Given the description of an element on the screen output the (x, y) to click on. 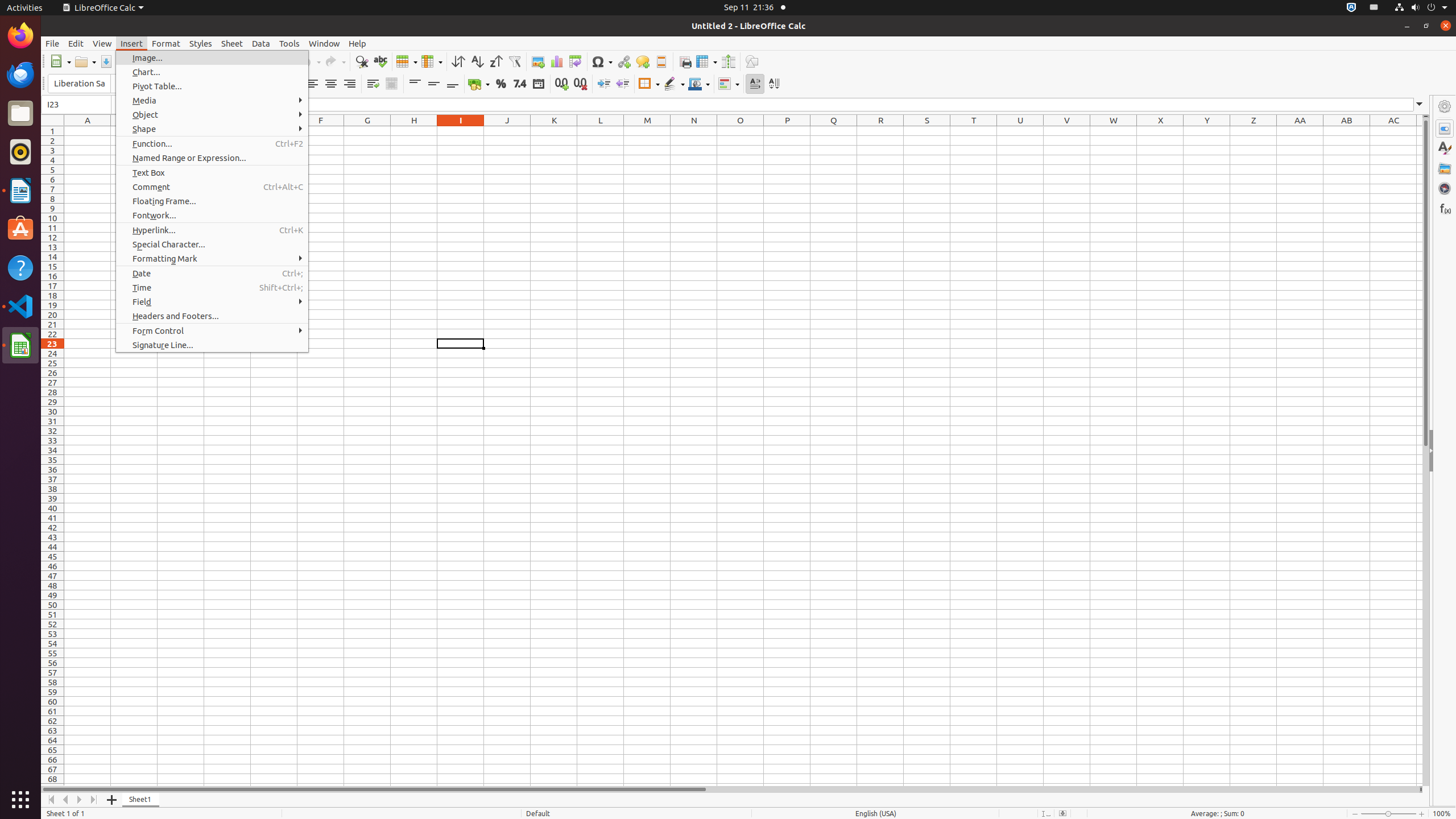
Move To End Element type: push-button (94, 799)
AutoFilter Element type: push-button (514, 61)
Comment Element type: push-button (642, 61)
